Given the description of an element on the screen output the (x, y) to click on. 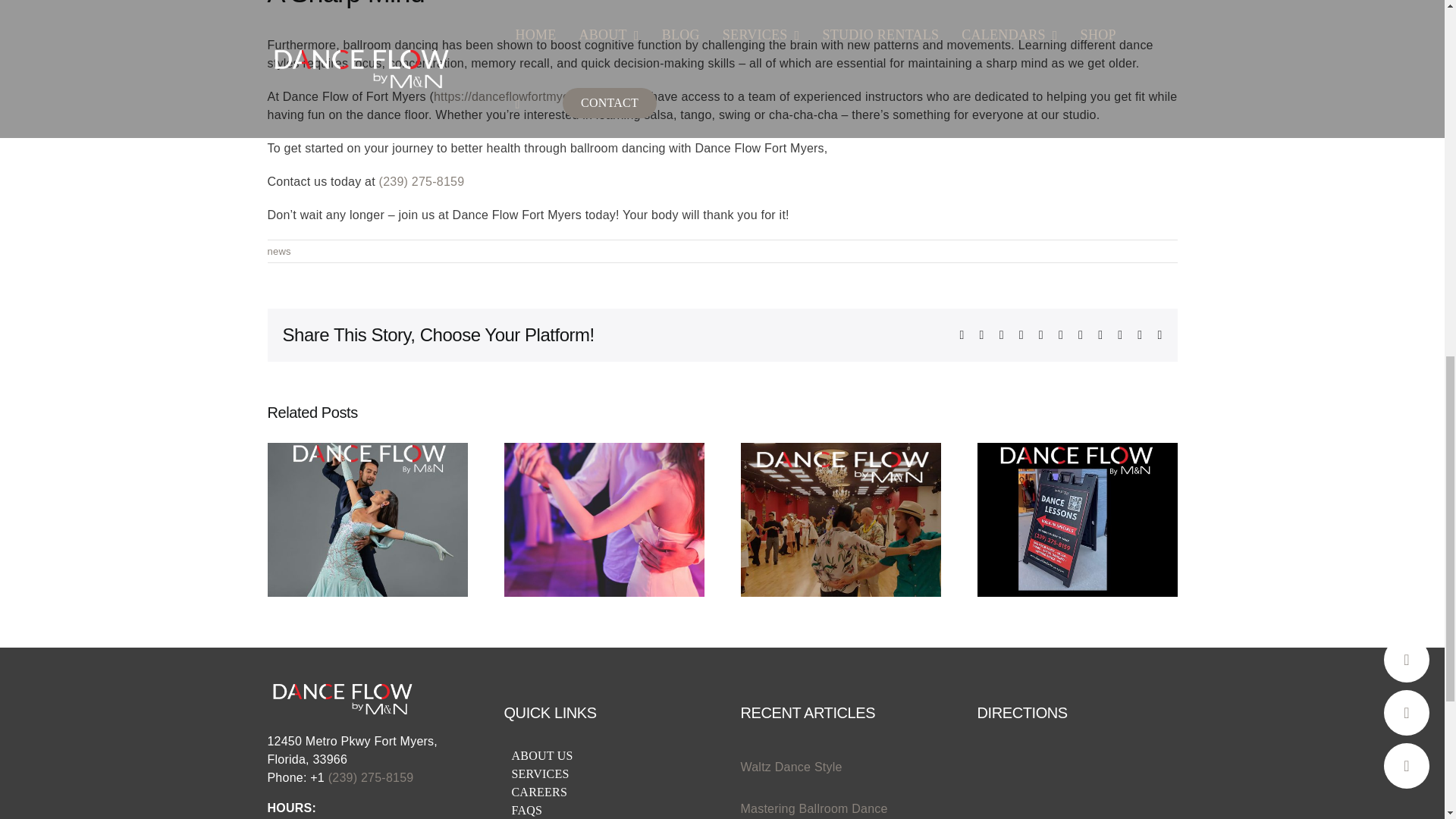
news (277, 251)
